Given the description of an element on the screen output the (x, y) to click on. 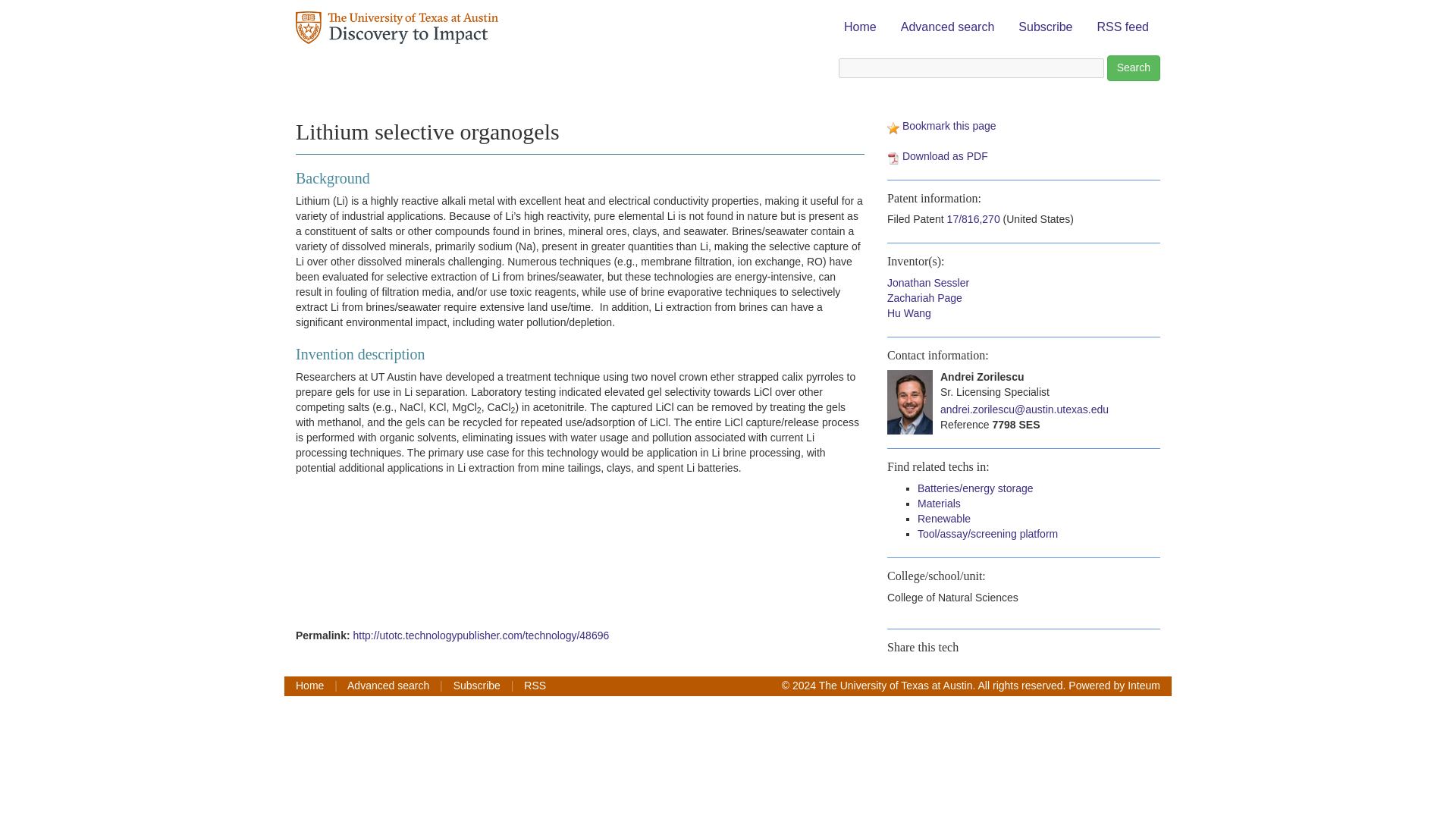
Hu Wang (908, 313)
Inteum (1143, 685)
Download as PDF (945, 155)
Zachariah Page (924, 297)
Jonathan Sessler (927, 282)
Renewable (944, 518)
Materials (938, 503)
Subscribe (1045, 27)
Home (860, 27)
Bookmark this page (948, 125)
RSS feed (1123, 27)
Advanced search (388, 685)
Search (1133, 68)
RSS (535, 685)
Advanced search (947, 27)
